Given the description of an element on the screen output the (x, y) to click on. 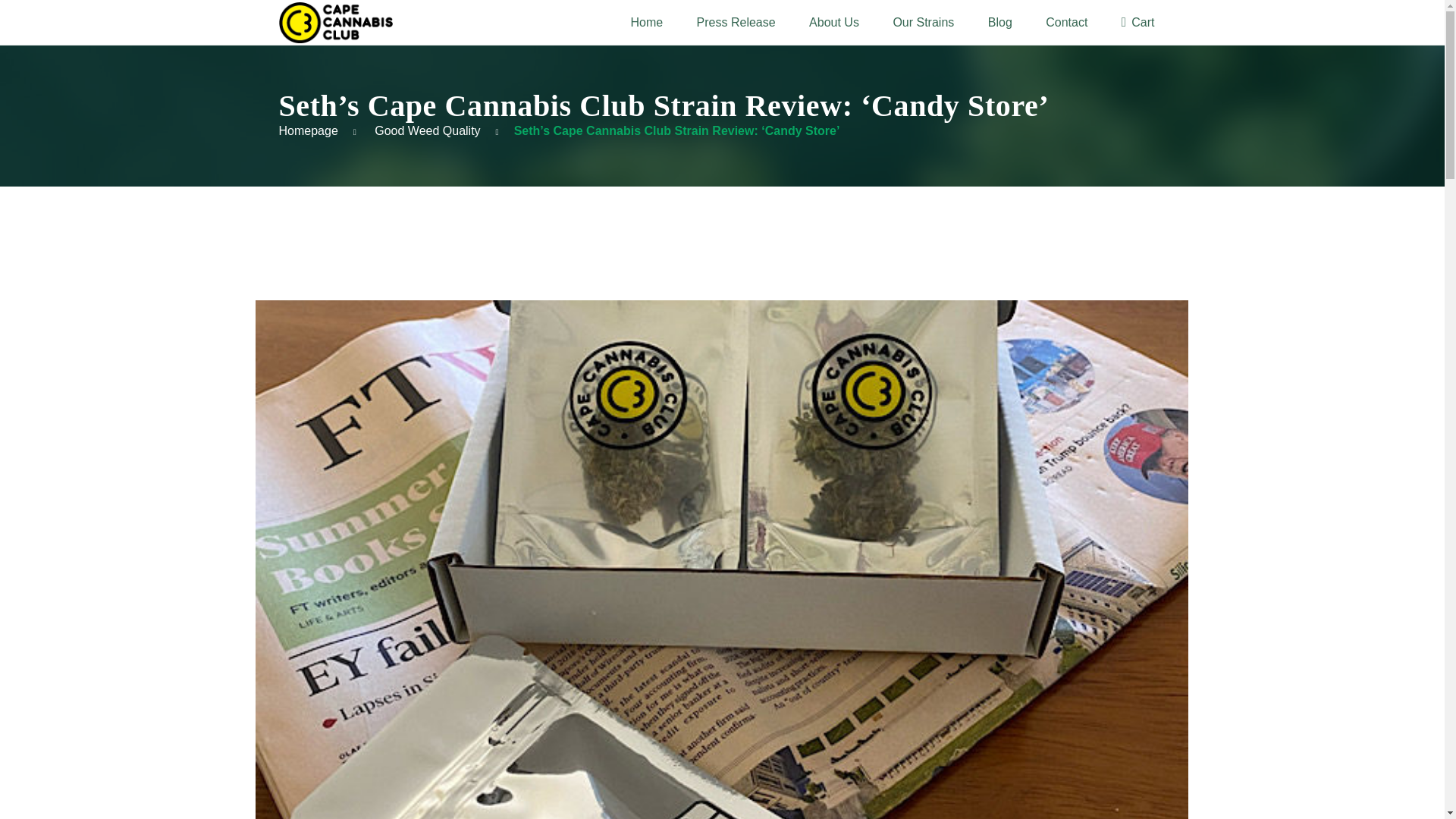
Press Release (736, 22)
Homepage (308, 130)
Good Weed Quality (427, 130)
Our Strains (922, 22)
Contact (1066, 22)
About Us (834, 22)
